Given the description of an element on the screen output the (x, y) to click on. 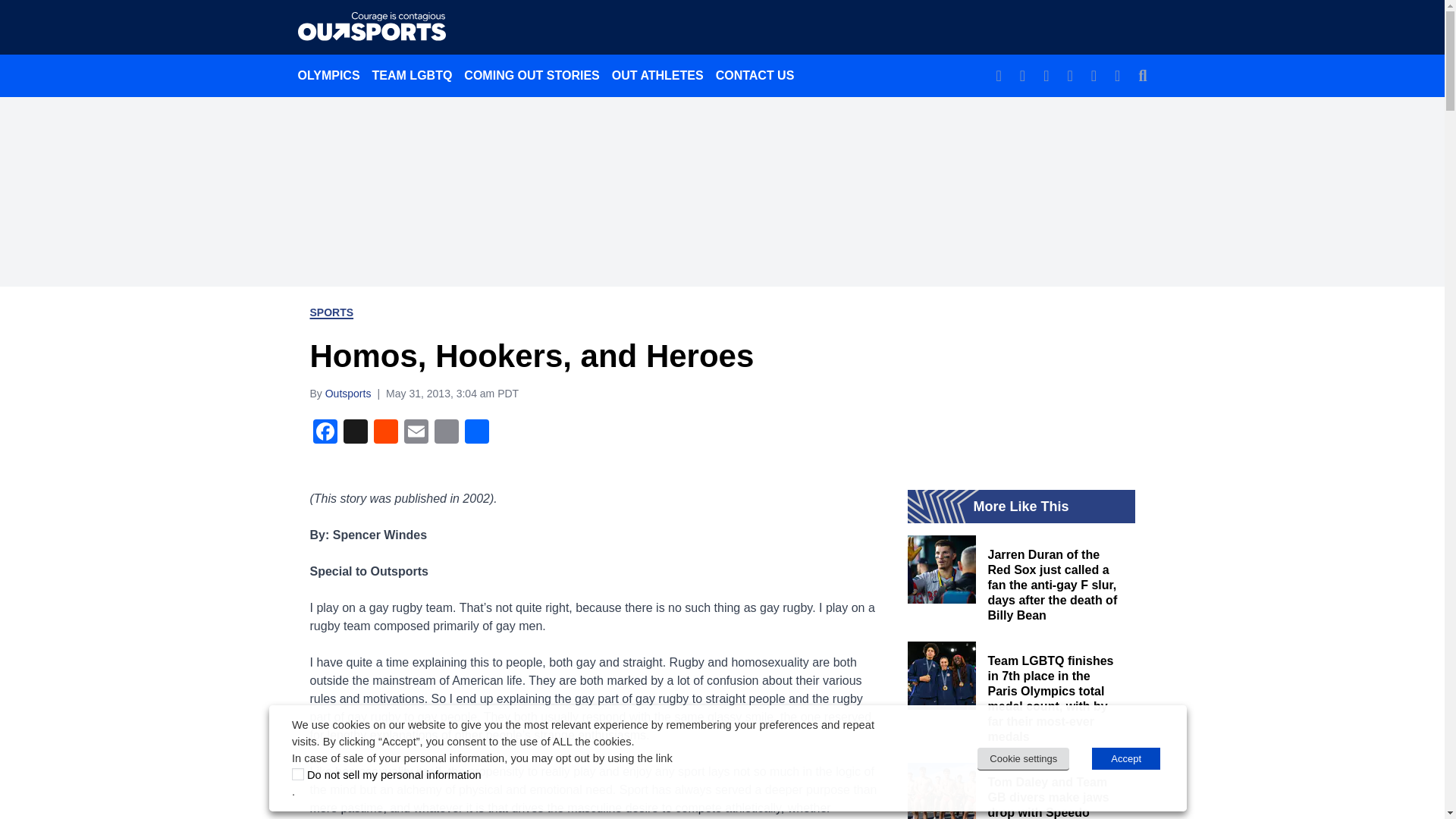
Reddit (384, 433)
on (298, 774)
Reddit (384, 433)
CONTACT US (755, 75)
TEAM LGBTQ (412, 75)
X (354, 433)
Copy Link (445, 433)
Share (476, 433)
Email (415, 433)
Email (415, 433)
